Given the description of an element on the screen output the (x, y) to click on. 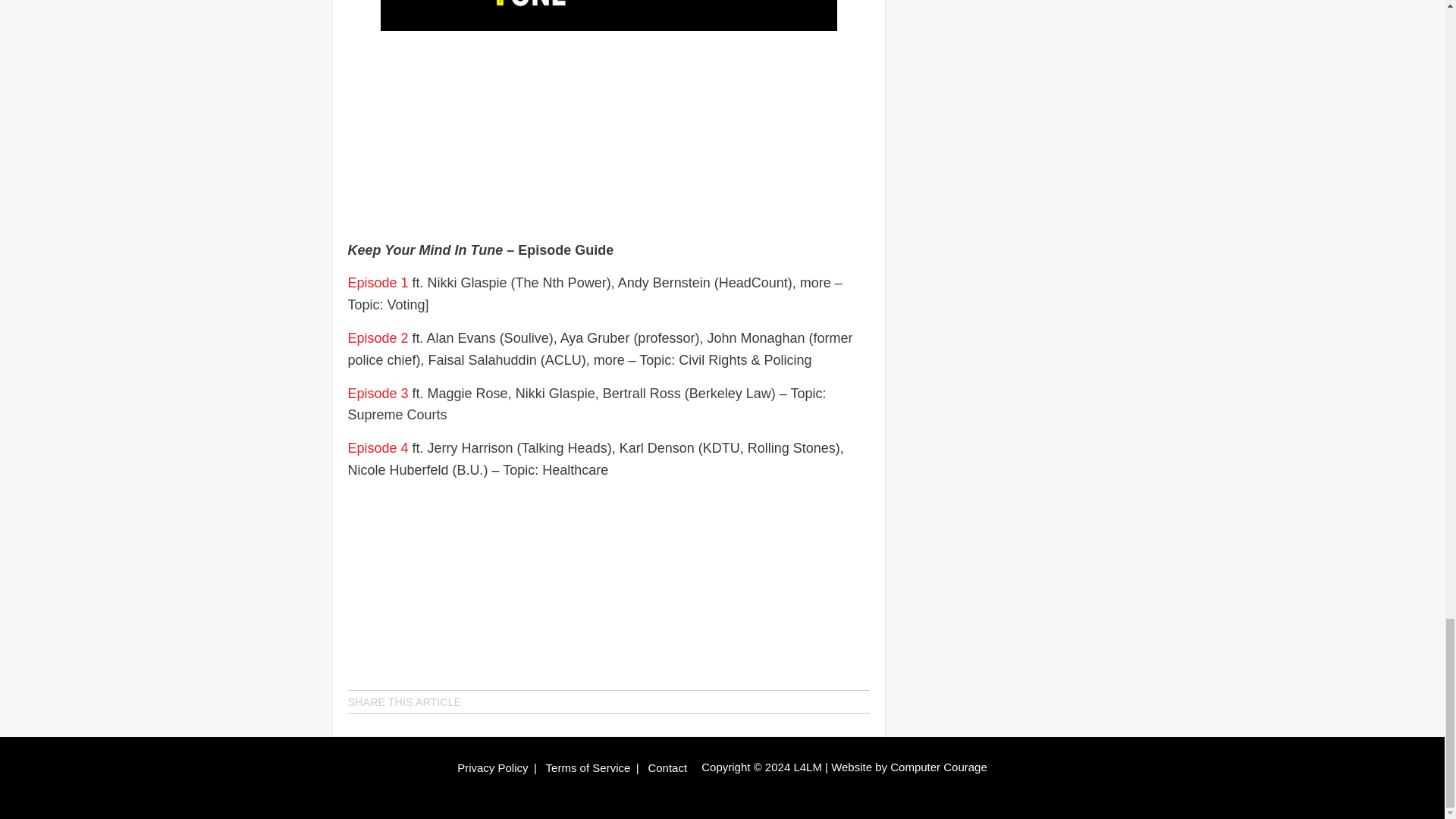
Episode 4 (377, 447)
Episode 2 (377, 337)
Contact (667, 767)
Privacy Policy (492, 767)
Website by Computer Courage (909, 766)
Terms of Service (588, 767)
Episode 1 (377, 282)
Episode 3 (377, 393)
